Given the description of an element on the screen output the (x, y) to click on. 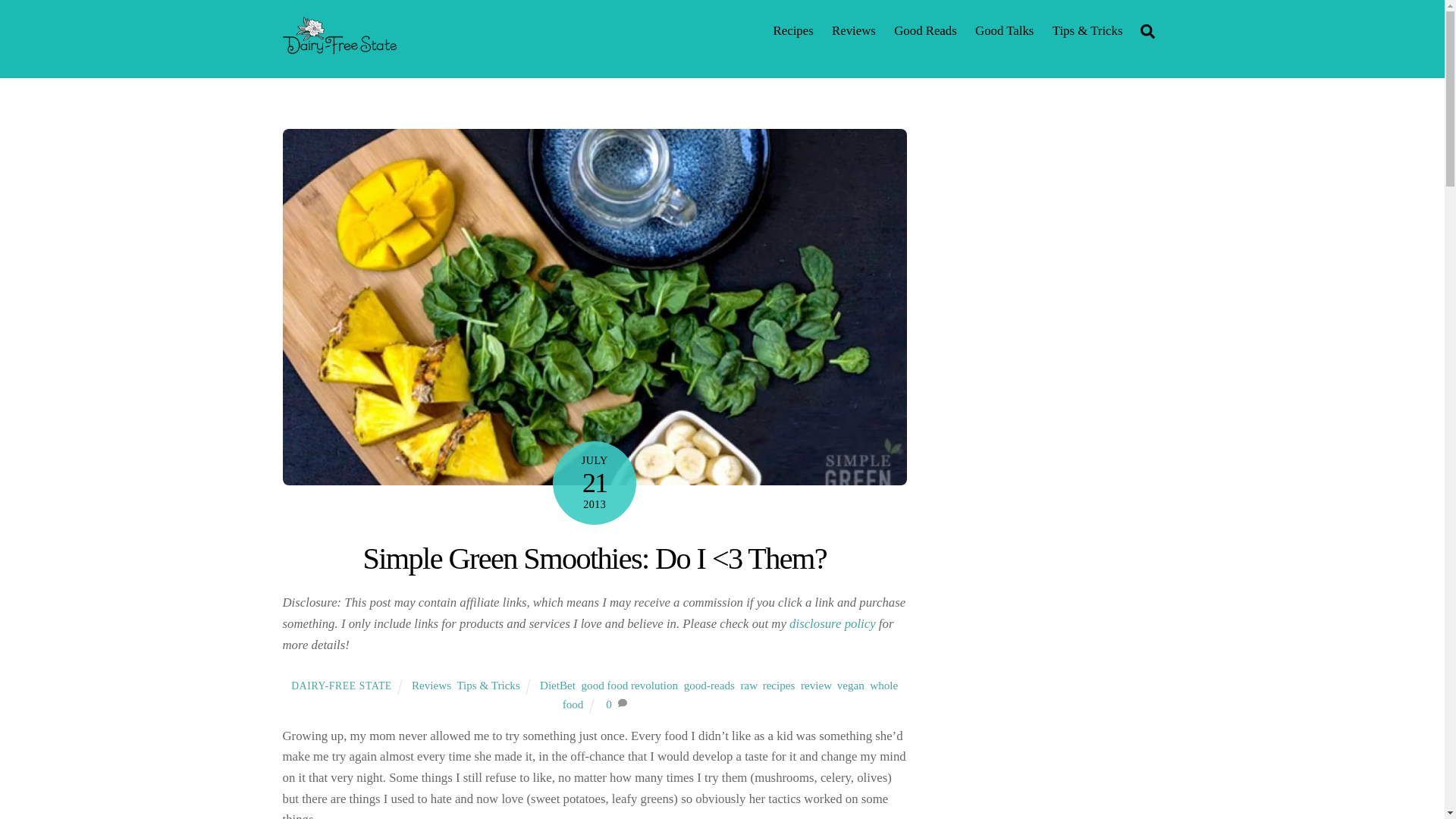
raw (748, 685)
good food revolution (629, 685)
disclosure policy (832, 623)
whole food (730, 694)
Good Reads (924, 31)
DAIRY-FREE STATE (341, 685)
vegan (850, 685)
DietBet (557, 685)
Search (1146, 30)
recipes (778, 685)
Dairy-Free State (339, 47)
Good Talks (1004, 31)
Reviews (431, 685)
Recipes (793, 31)
review (815, 685)
